Given the description of an element on the screen output the (x, y) to click on. 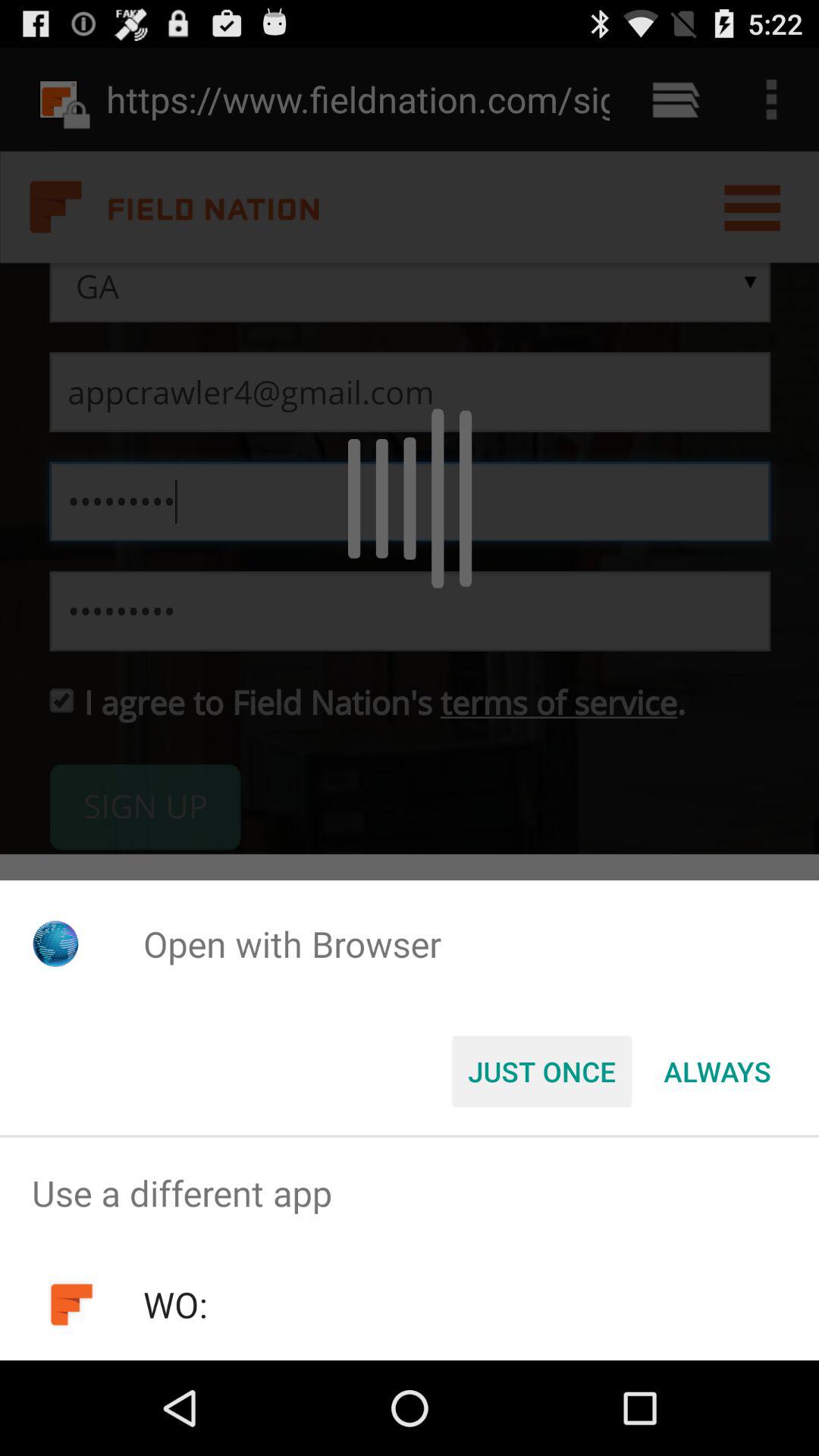
tap the wo: app (175, 1304)
